Given the description of an element on the screen output the (x, y) to click on. 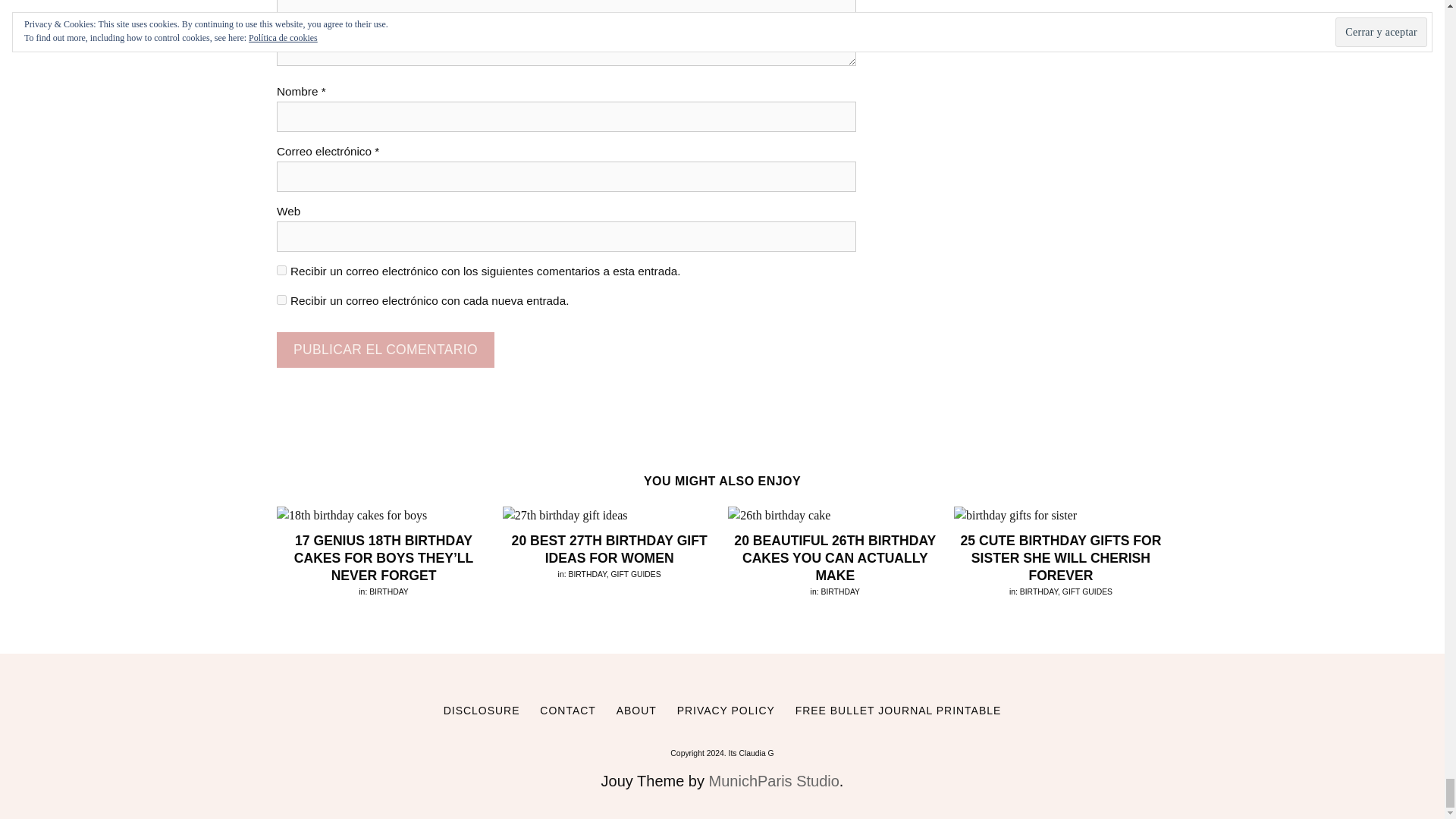
subscribe (281, 299)
Publicar el comentario (385, 349)
subscribe (281, 270)
